Given the description of an element on the screen output the (x, y) to click on. 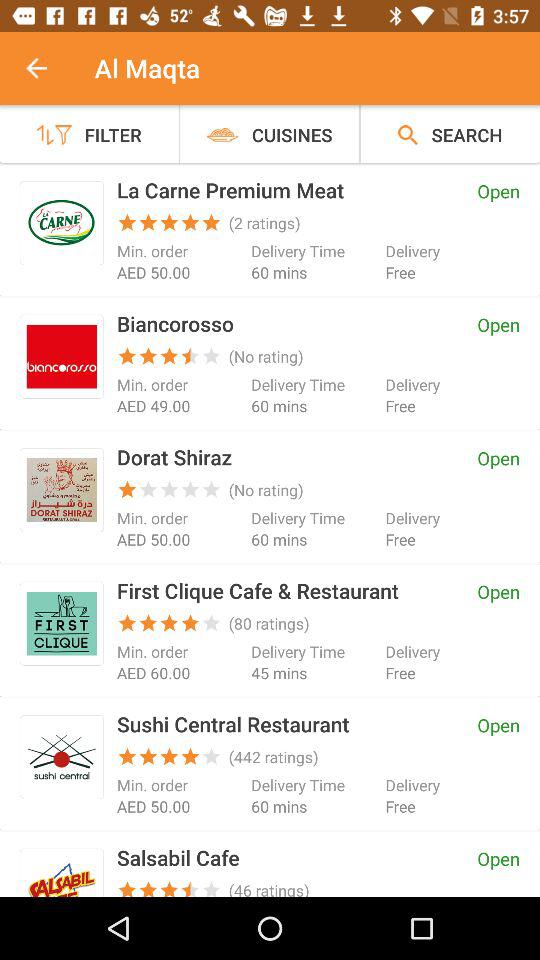
app icon (61, 356)
